Given the description of an element on the screen output the (x, y) to click on. 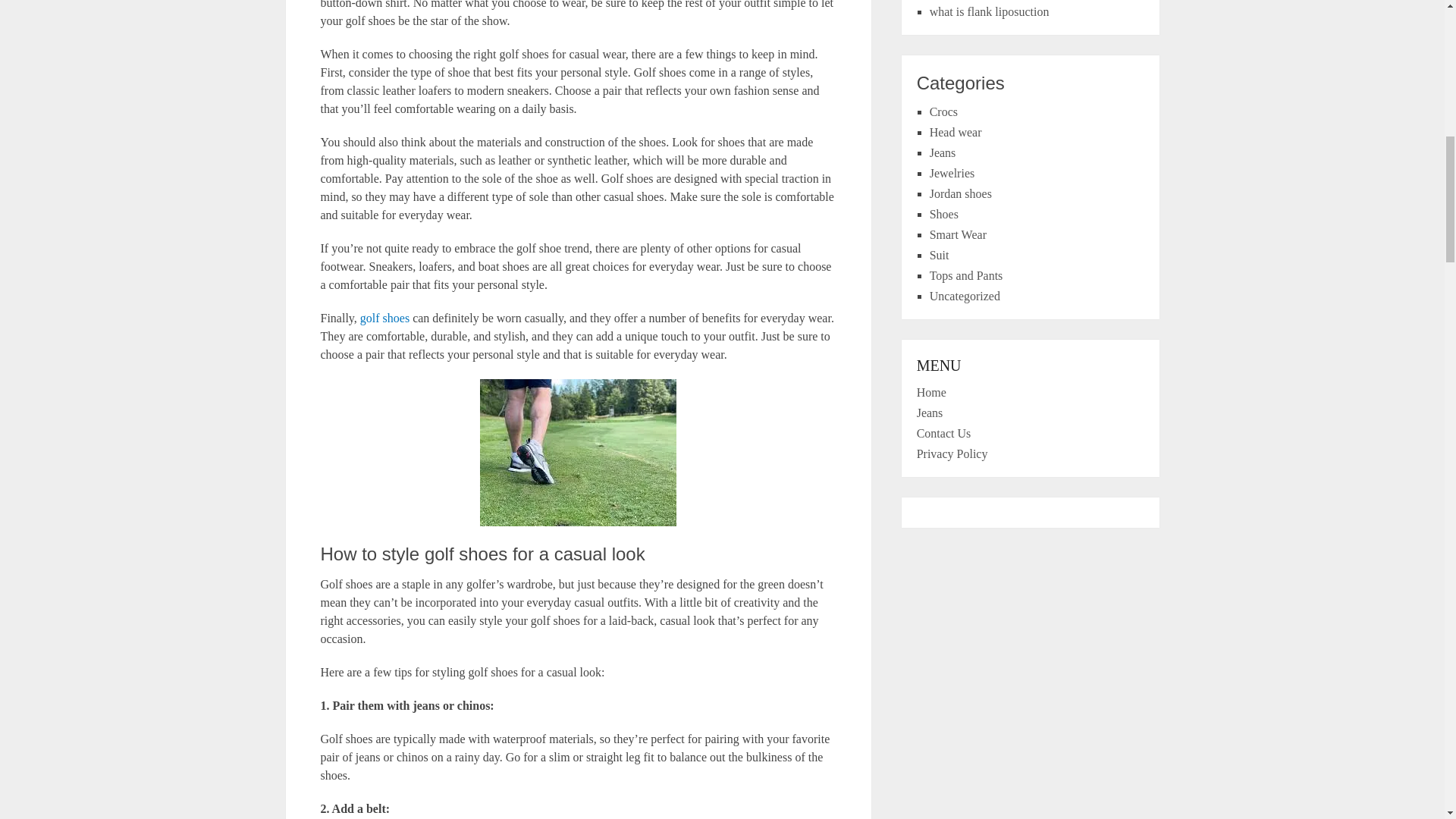
Crocs (944, 111)
Jordan shoes (960, 193)
what is flank liposuction (989, 11)
Smart Wear (958, 234)
Shoes (944, 214)
golf shoes (384, 318)
Jeans (943, 152)
Jewelries (952, 173)
Head wear (955, 132)
